Given the description of an element on the screen output the (x, y) to click on. 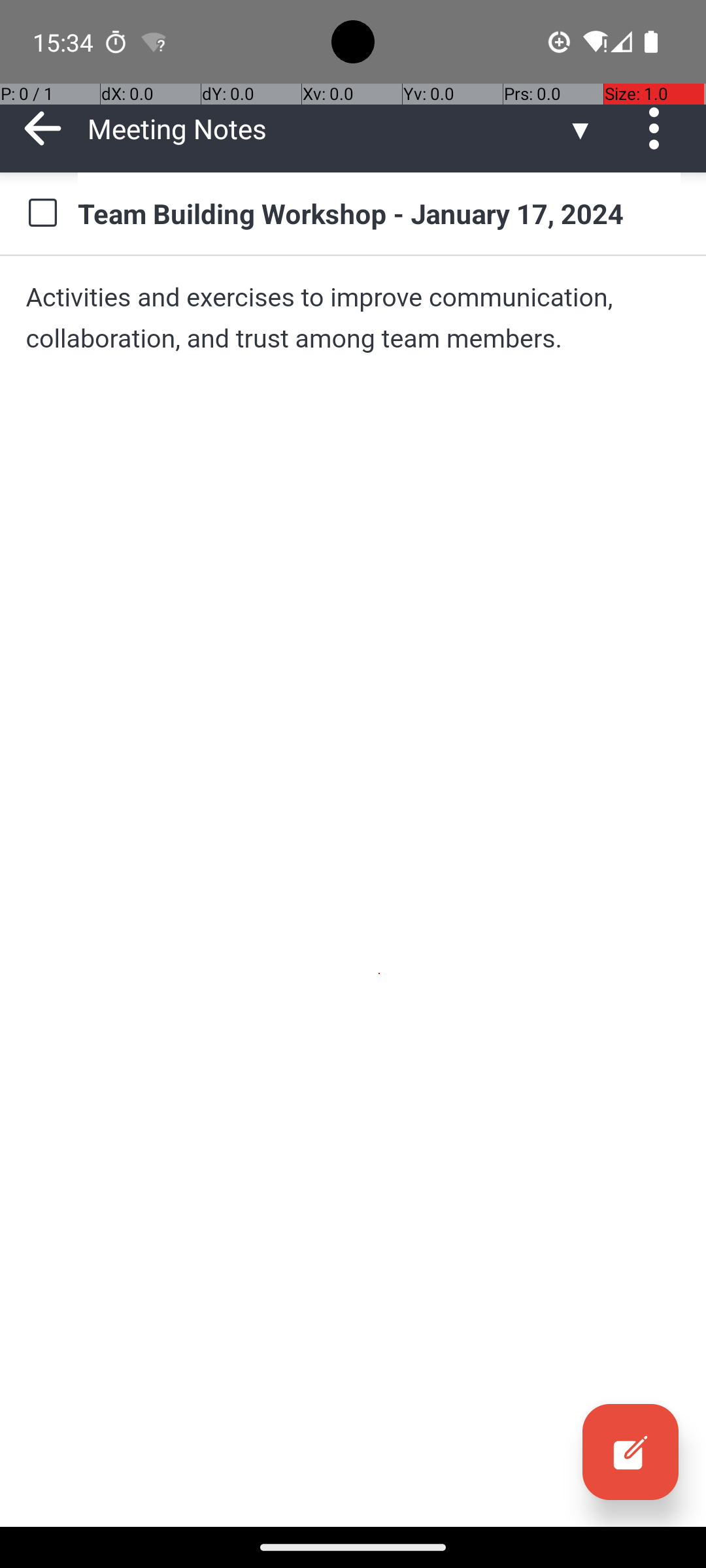
Team Building Workshop - January 17, 2024 Element type: android.widget.EditText (378, 213)
Activities and exercises to improve communication, collaboration, and trust among team members. Element type: android.widget.TextView (352, 317)
